Given the description of an element on the screen output the (x, y) to click on. 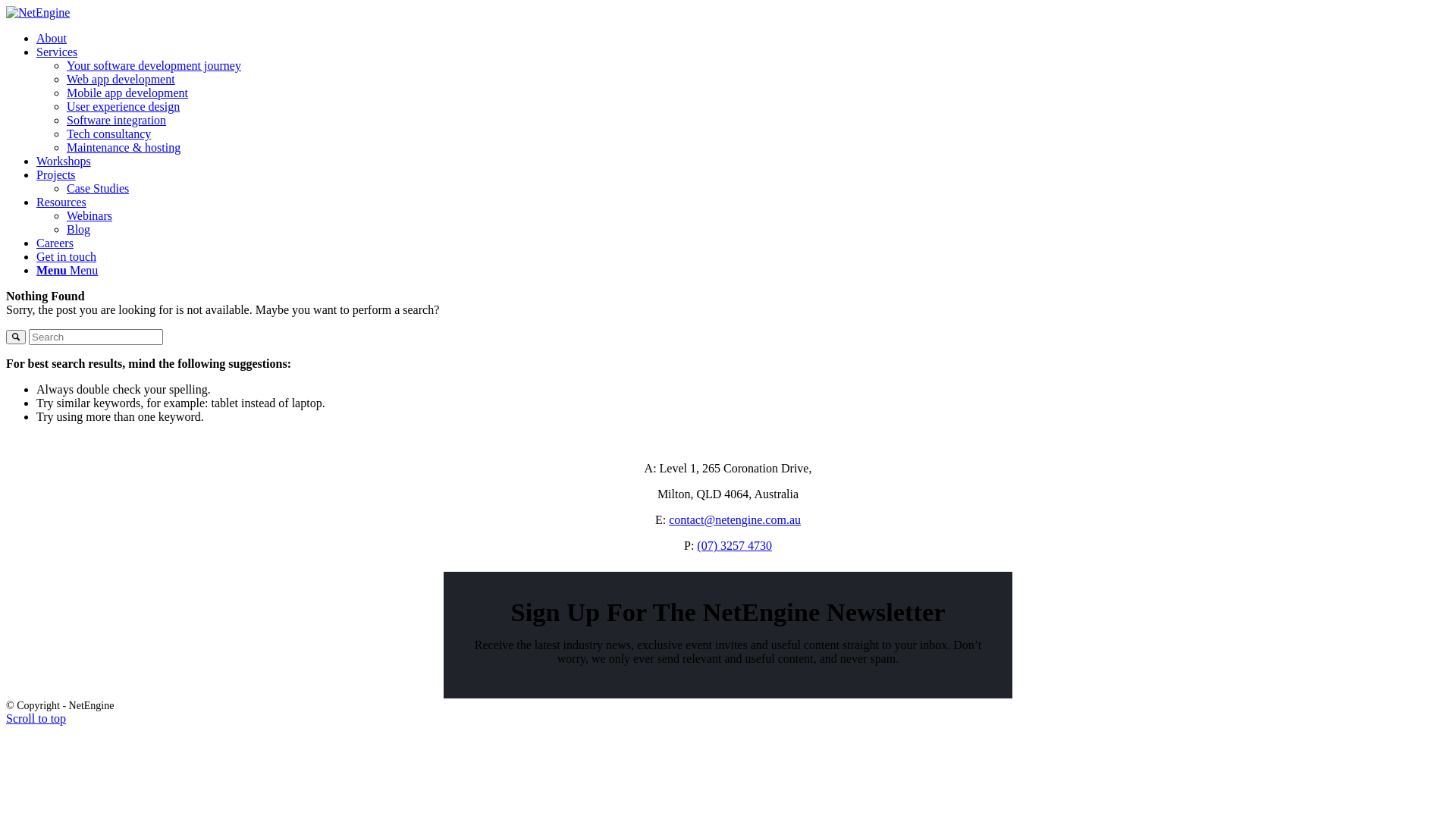
User experience design Element type: text (122, 106)
Menu Menu Element type: text (66, 269)
Your software development journey Element type: text (153, 65)
Software integration Element type: text (116, 119)
Case Studies Element type: text (97, 188)
Careers Element type: text (54, 242)
Mobile app development Element type: text (127, 92)
Workshops Element type: text (63, 160)
contact@netengine.com.au Element type: text (734, 519)
Scroll to top Element type: text (35, 718)
Blog Element type: text (78, 228)
Maintenance & hosting Element type: text (123, 147)
Webinars Element type: text (89, 215)
Services Element type: text (56, 51)
Projects Element type: text (55, 174)
Tech consultancy Element type: text (108, 133)
Web app development Element type: text (120, 78)
Resources Element type: text (61, 201)
About Element type: text (51, 37)
Get in touch Element type: text (66, 256)
(07) 3257 4730 Element type: text (733, 545)
